Given the description of an element on the screen output the (x, y) to click on. 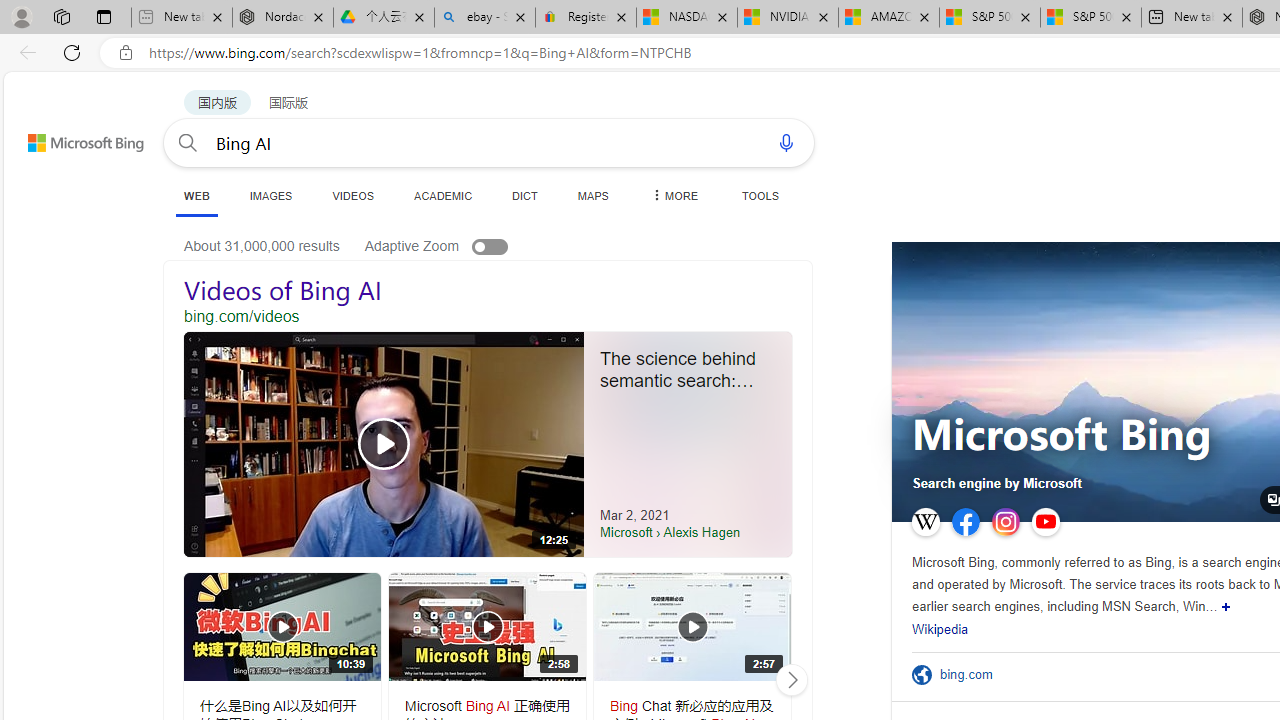
New tab - Sleeping (181, 17)
Back to Bing search (73, 138)
Search using voice (785, 142)
Facebook (966, 521)
Microsoft Bing (1061, 436)
IMAGES (270, 195)
Click to scroll right (791, 679)
MORE (673, 195)
VIDEOS (352, 195)
bing.com (971, 674)
WEB (196, 195)
